Given the description of an element on the screen output the (x, y) to click on. 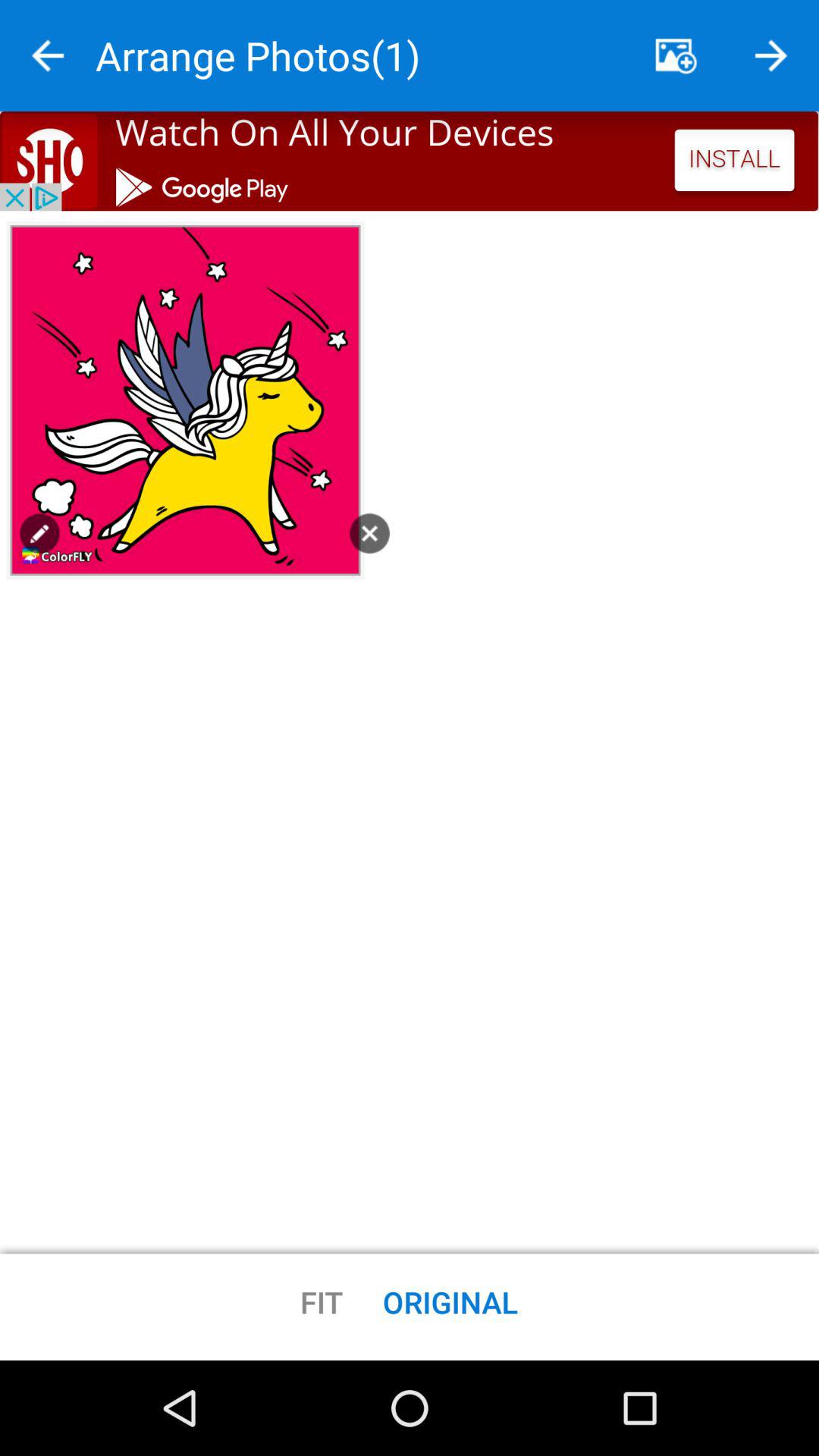
i con page (39, 533)
